Given the description of an element on the screen output the (x, y) to click on. 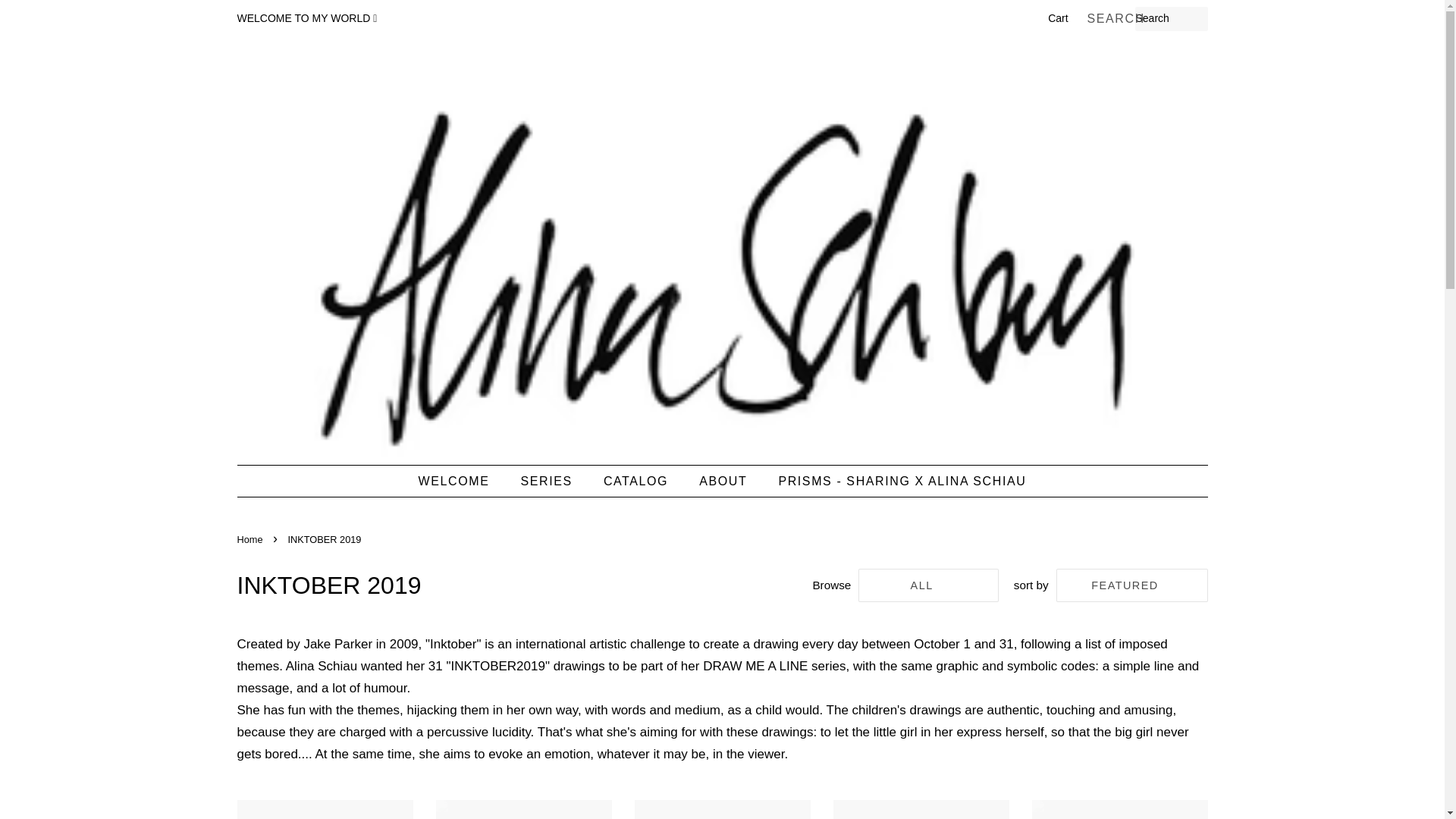
SEARCH (1110, 18)
WELCOME (462, 481)
Back to the frontpage (250, 539)
Cart (1057, 18)
SERIES (548, 481)
